Given the description of an element on the screen output the (x, y) to click on. 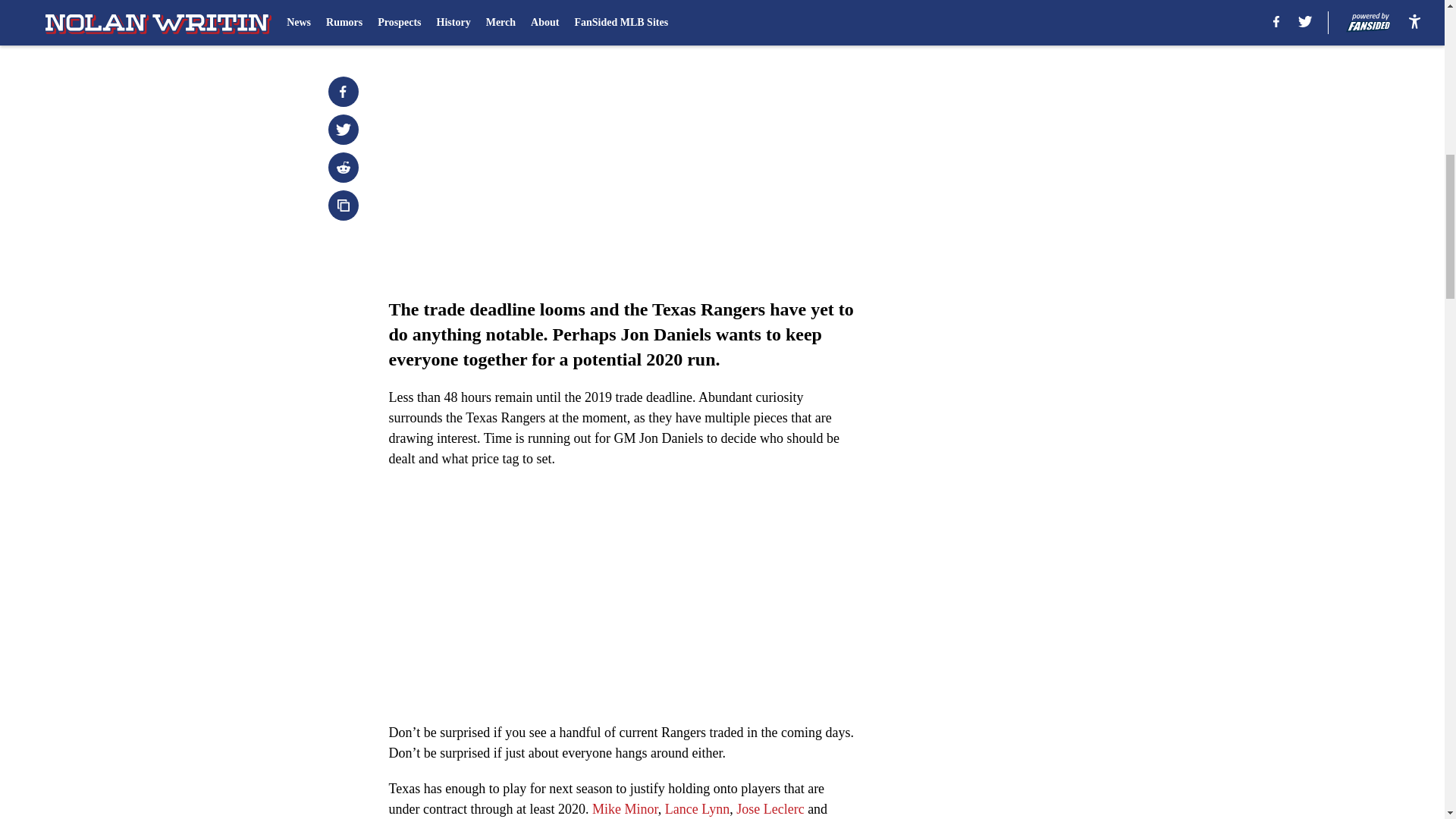
Lance Lynn (697, 808)
Jose Leclerc (769, 808)
Mike Minor (625, 808)
